Given the description of an element on the screen output the (x, y) to click on. 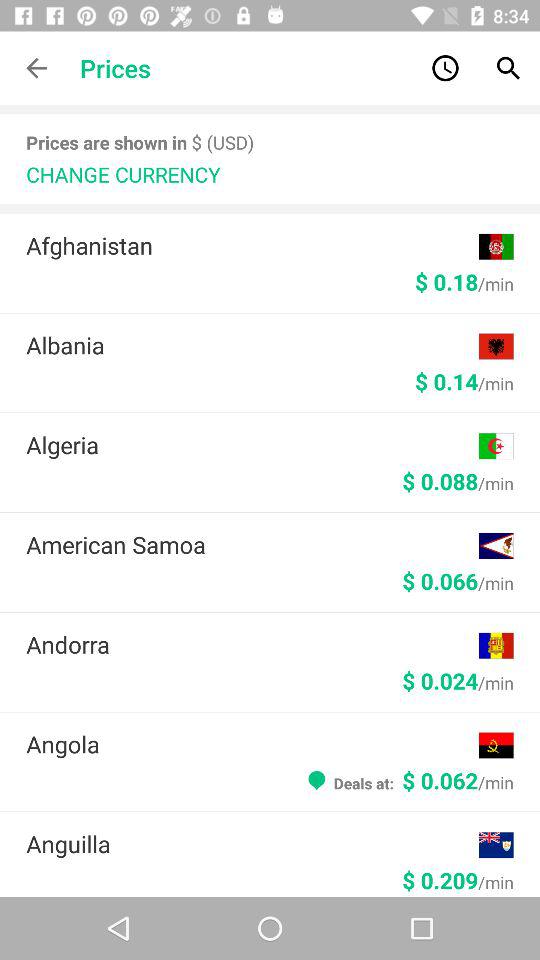
flip until the anguilla icon (252, 843)
